Given the description of an element on the screen output the (x, y) to click on. 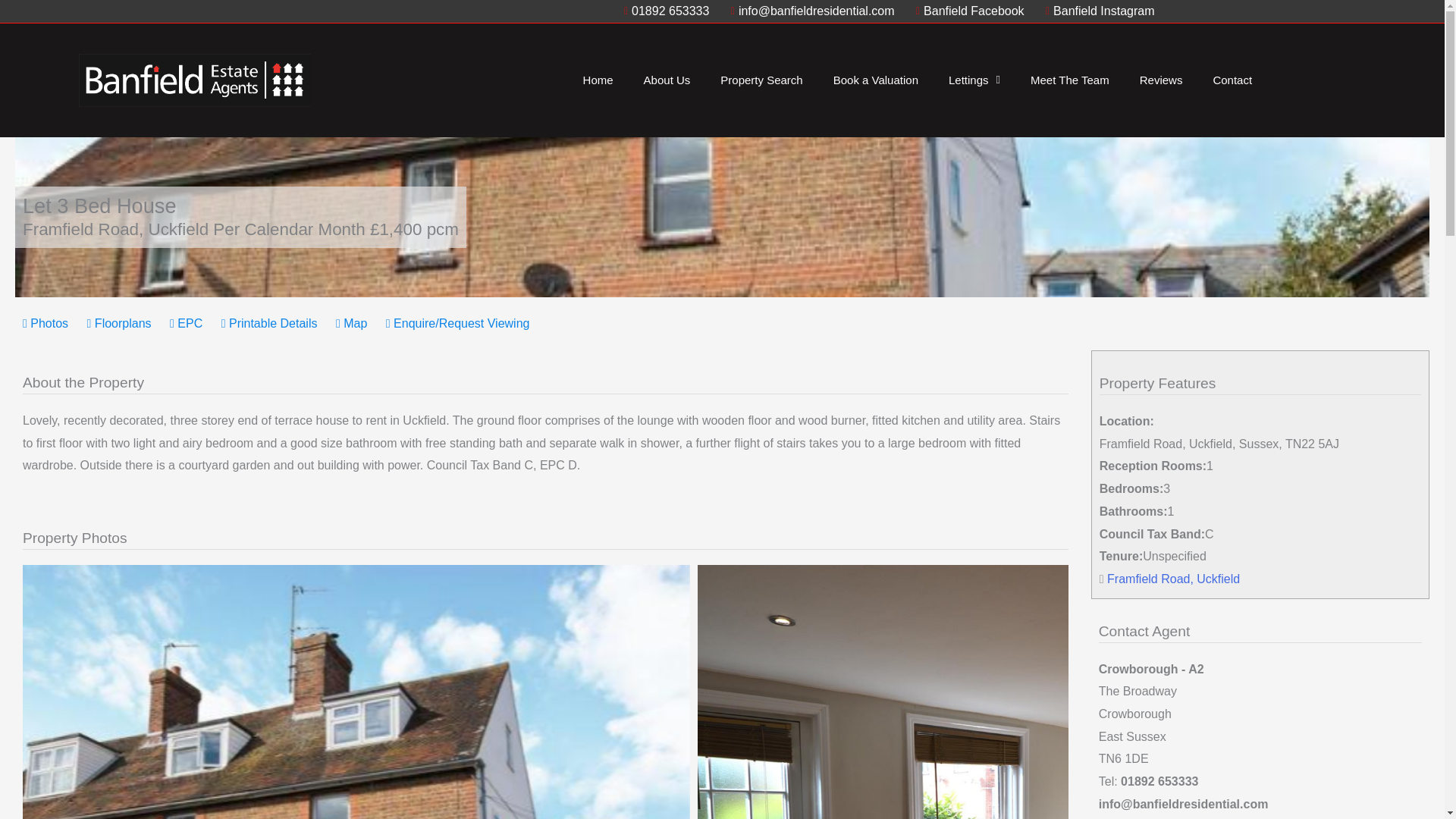
Meet The Team (1069, 79)
Reviews (1161, 79)
Framfield Road, Uckfield (1173, 578)
01892 653333 (662, 11)
Photos (45, 323)
Map (351, 323)
Map (351, 323)
Home (597, 79)
Banfield Facebook (966, 11)
EPCs (186, 323)
Printable Details (269, 323)
Photos (45, 323)
Lettings (973, 79)
EPC (186, 323)
Book a Valuation (875, 79)
